Given the description of an element on the screen output the (x, y) to click on. 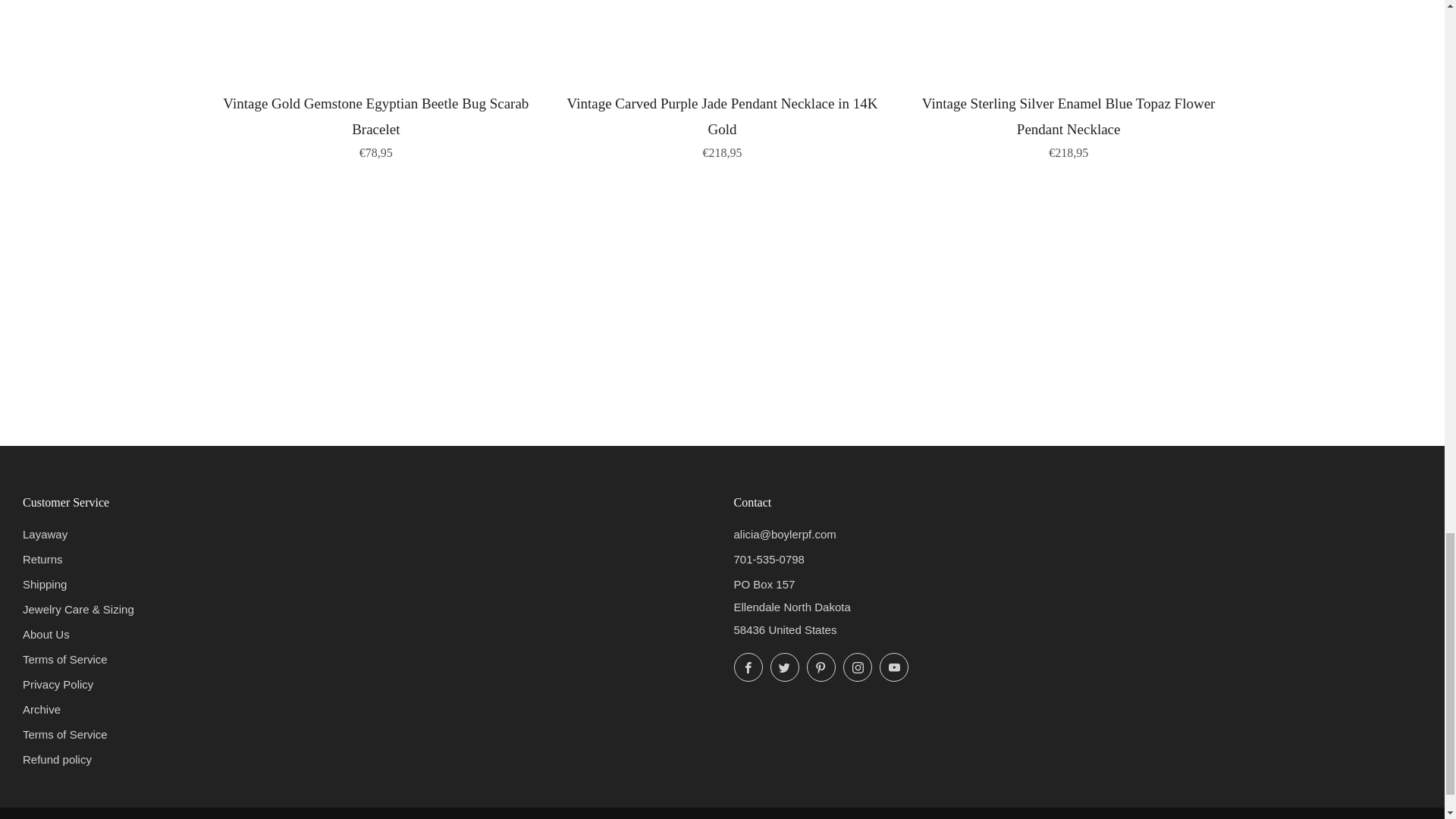
Vintage Carved Purple Jade Pendant Necklace in 14K Gold (721, 124)
American Express (131, 817)
Visa (358, 817)
Vintage Gold Gemstone Egyptian Beetle Bug Scarab Bracelet (376, 124)
Venmo (326, 817)
PayPal (261, 817)
Diners Club (164, 817)
Mastercard (229, 817)
Discover (197, 817)
